Given the description of an element on the screen output the (x, y) to click on. 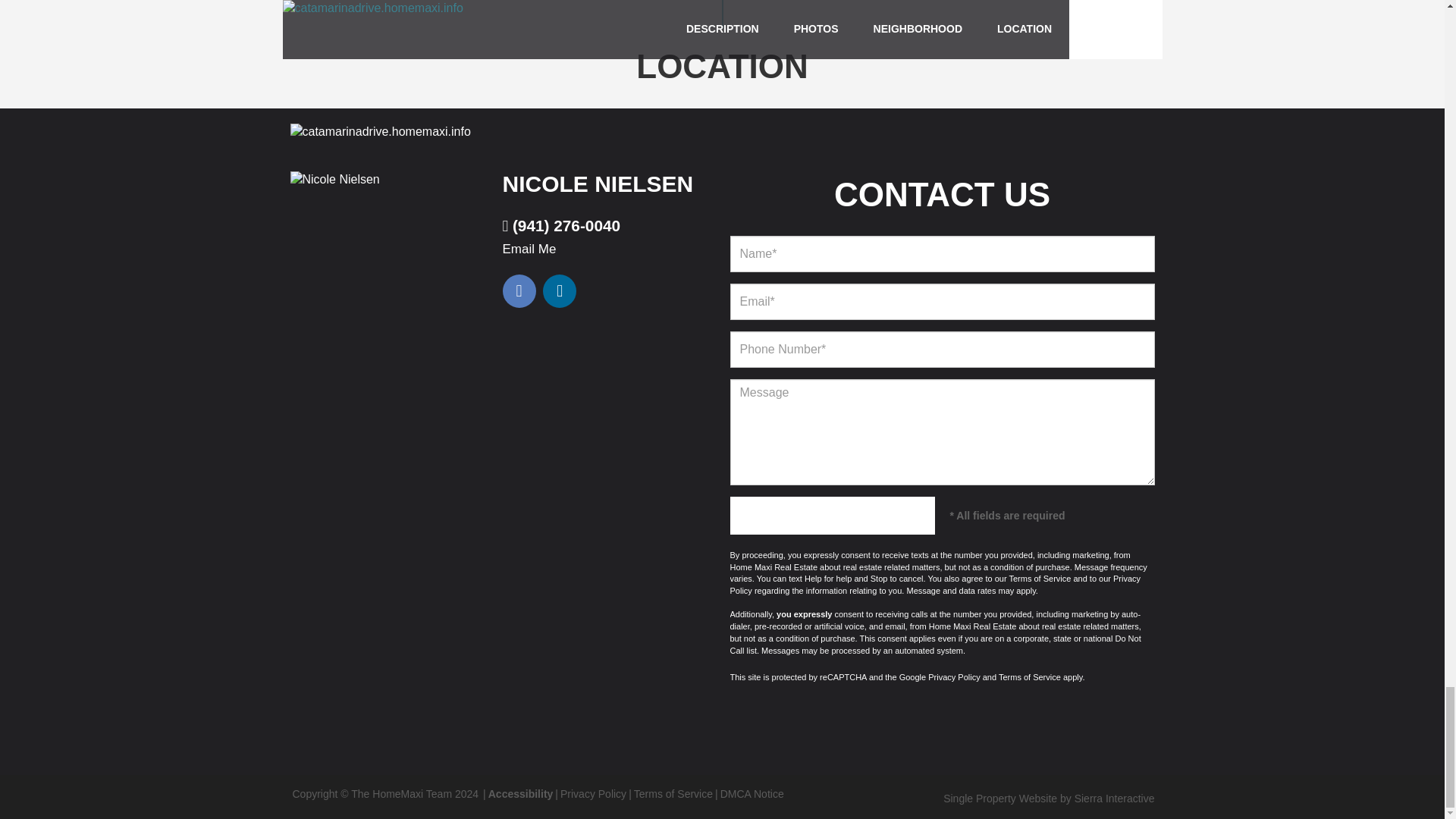
Terms of Service (1029, 676)
Submit (831, 515)
Terms of Service (673, 793)
Terms of Service (1039, 578)
Privacy Policy (953, 676)
Email Me (529, 248)
DMCA Notice (752, 793)
Privacy Policy (934, 584)
Accessibility (520, 793)
Sierra Interactive (1114, 798)
